Given the description of an element on the screen output the (x, y) to click on. 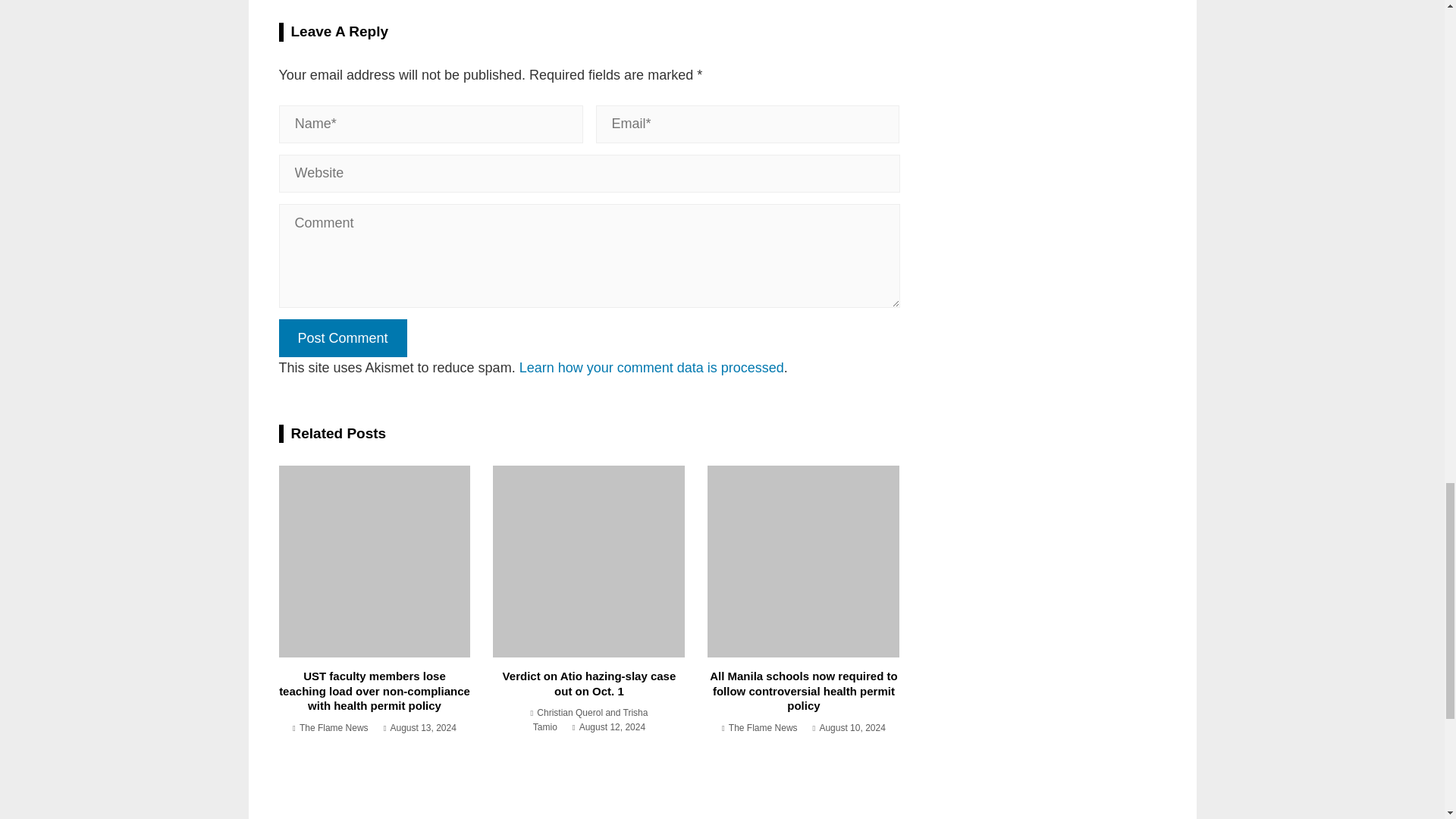
Post Comment (343, 338)
Verdict on Atio hazing-slay case out on Oct. 1 (589, 683)
